Given the description of an element on the screen output the (x, y) to click on. 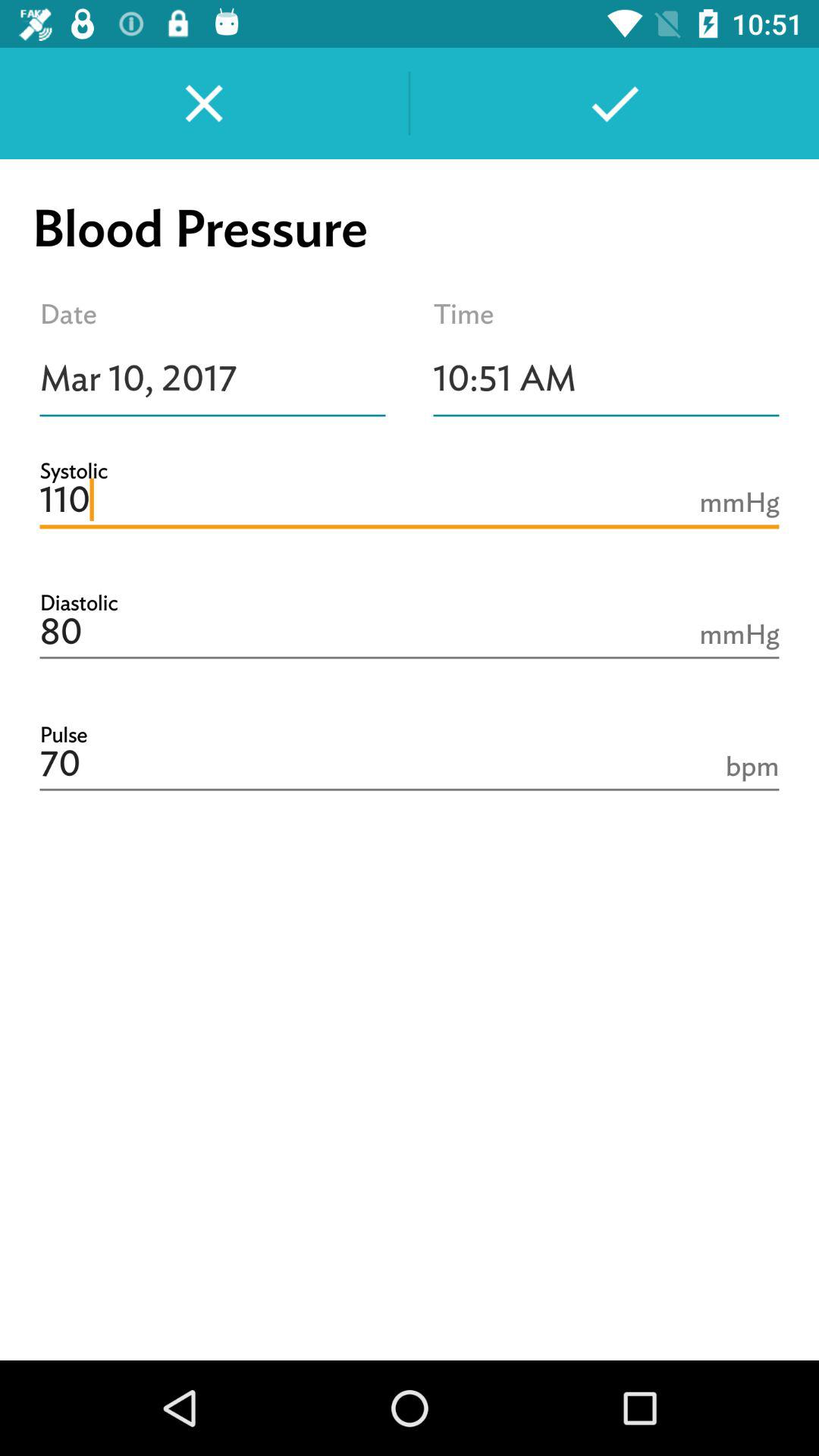
jump to 70 item (409, 764)
